Given the description of an element on the screen output the (x, y) to click on. 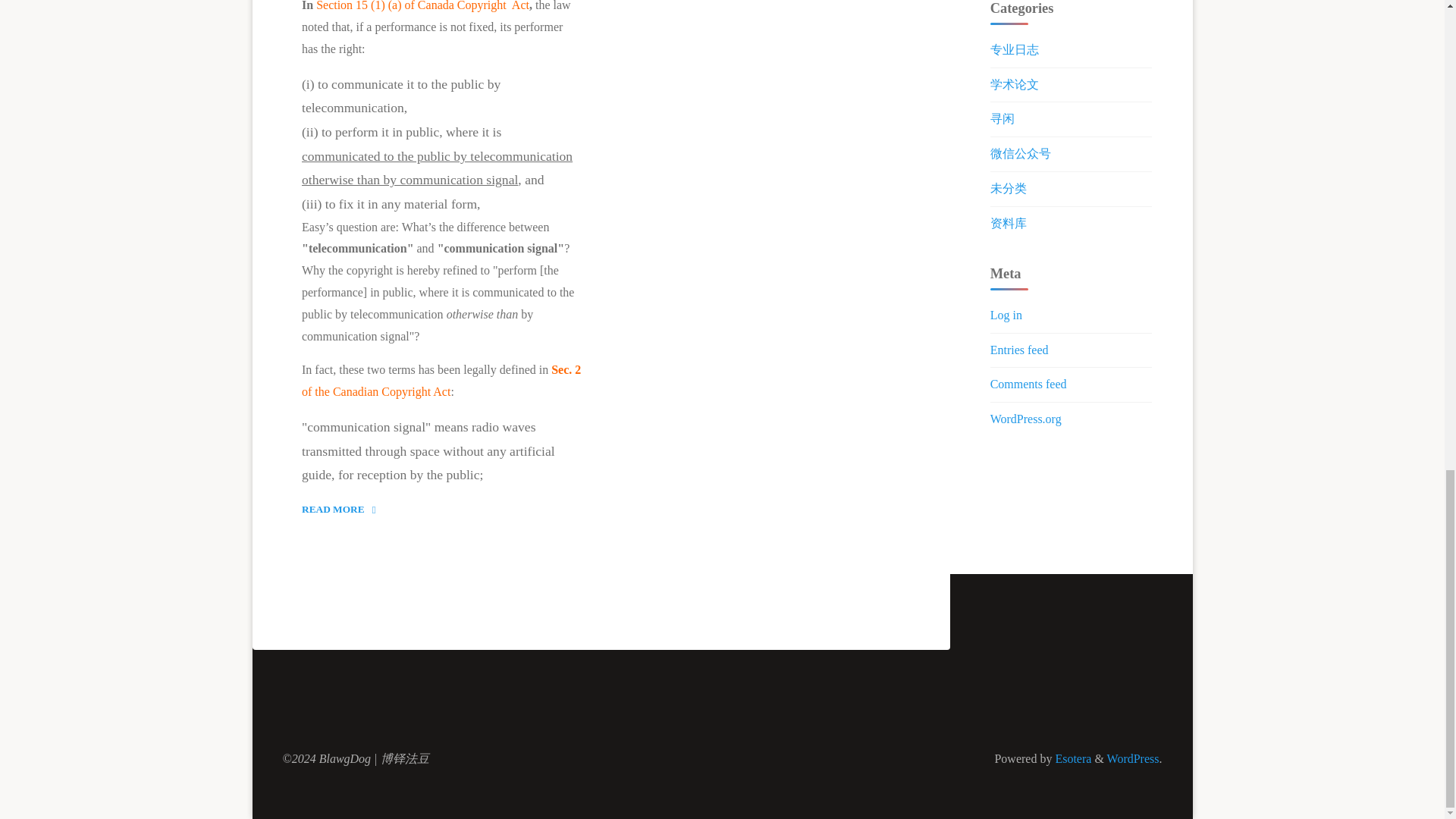
Semantic Personal Publishing Platform (344, 509)
Esotera WordPress Theme by Cryout Creations (1132, 758)
Sec. 2 of the Canadian Copyright Act (1070, 758)
